Given the description of an element on the screen output the (x, y) to click on. 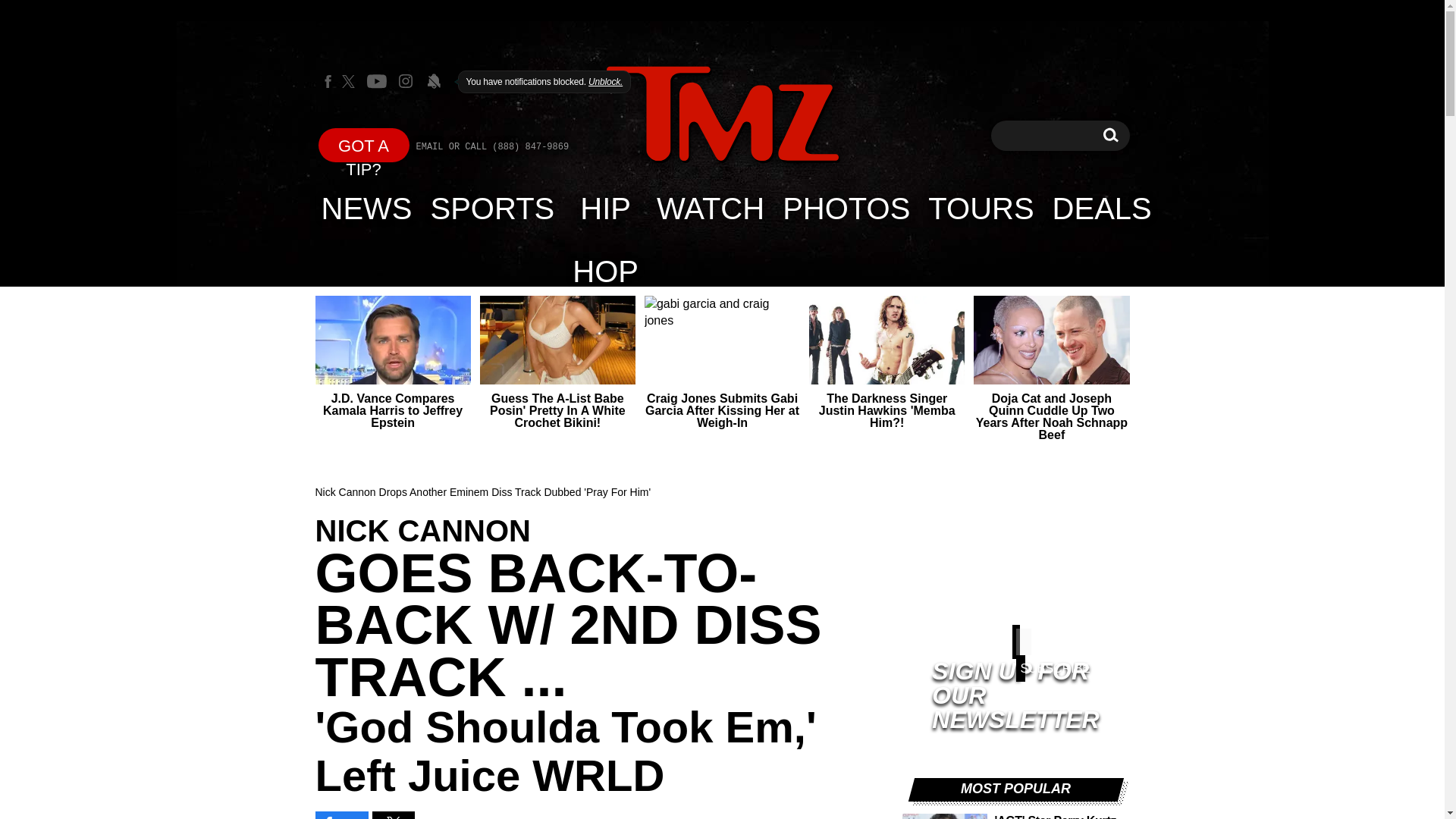
PHOTOS (845, 207)
GOT A TIP? (363, 144)
SPORTS (493, 207)
TMZ (1110, 135)
TMZ (722, 115)
HIP HOP (722, 113)
NEWS (605, 207)
TOURS (367, 207)
DEALS (980, 207)
